Given the description of an element on the screen output the (x, y) to click on. 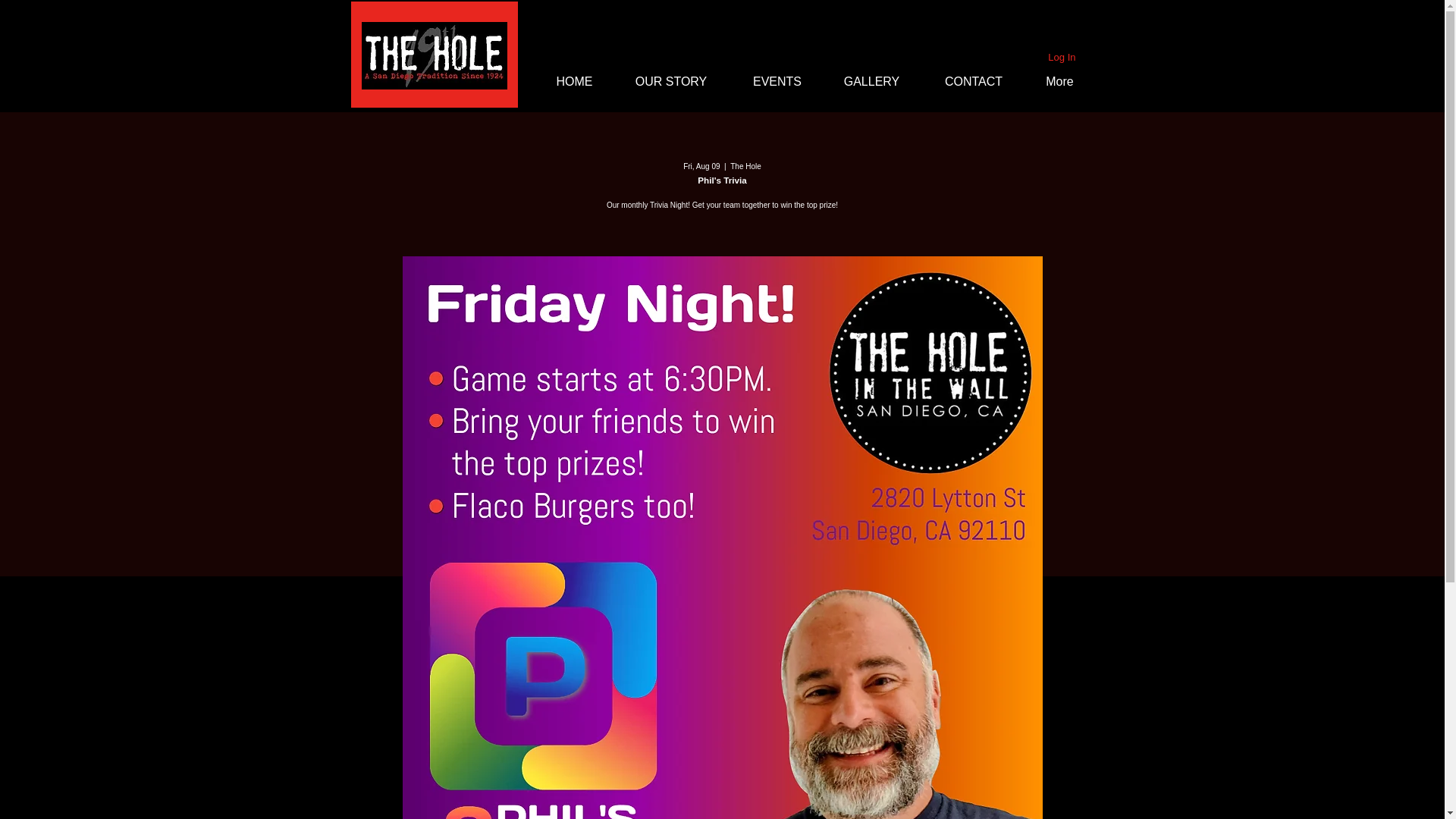
EVENTS (776, 81)
Log In (1061, 57)
OUR STORY (671, 81)
CONTACT (973, 81)
HOME (575, 81)
GALLERY (871, 81)
